Given the description of an element on the screen output the (x, y) to click on. 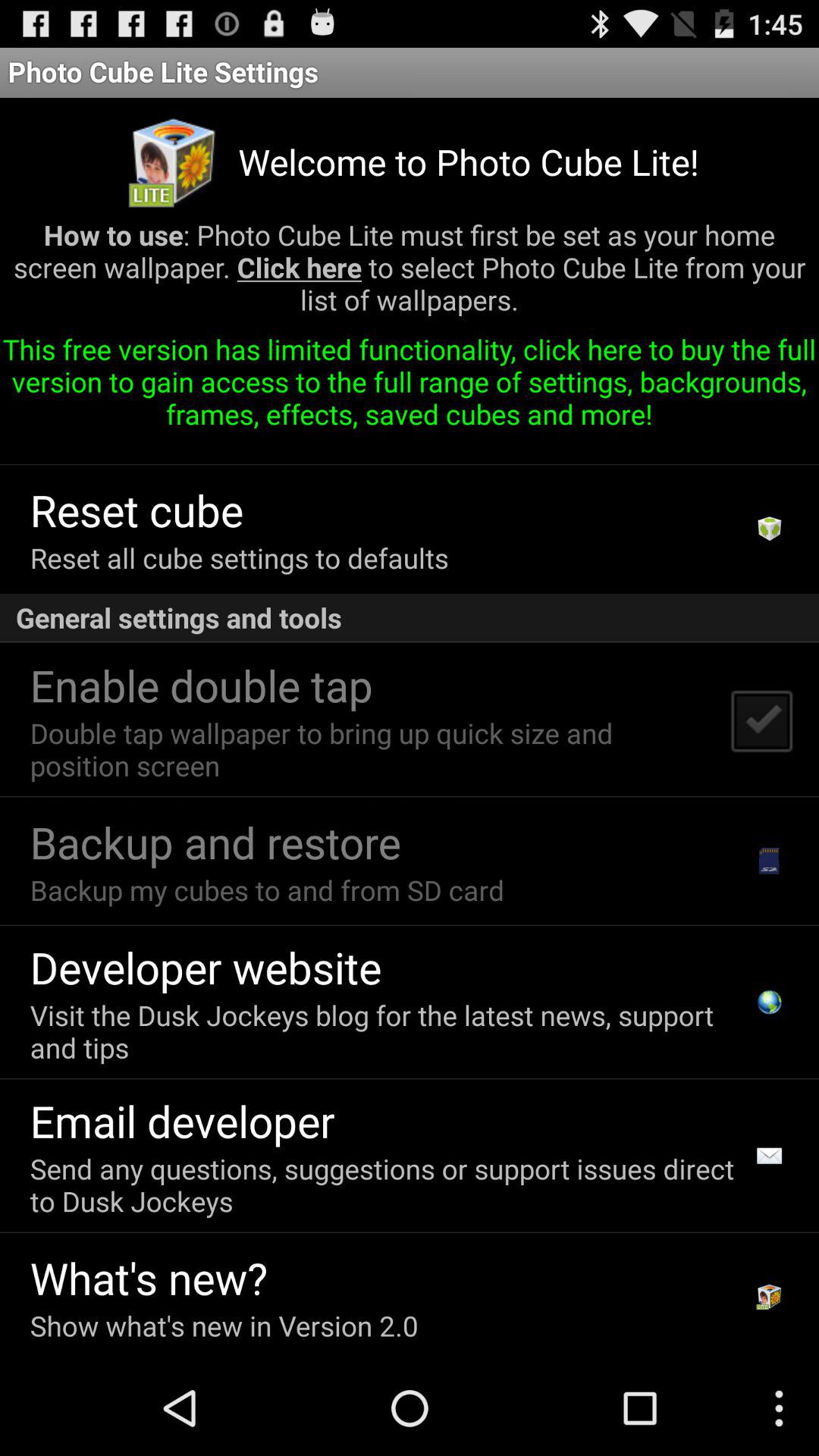
select item above the enable double tap app (409, 617)
